Given the description of an element on the screen output the (x, y) to click on. 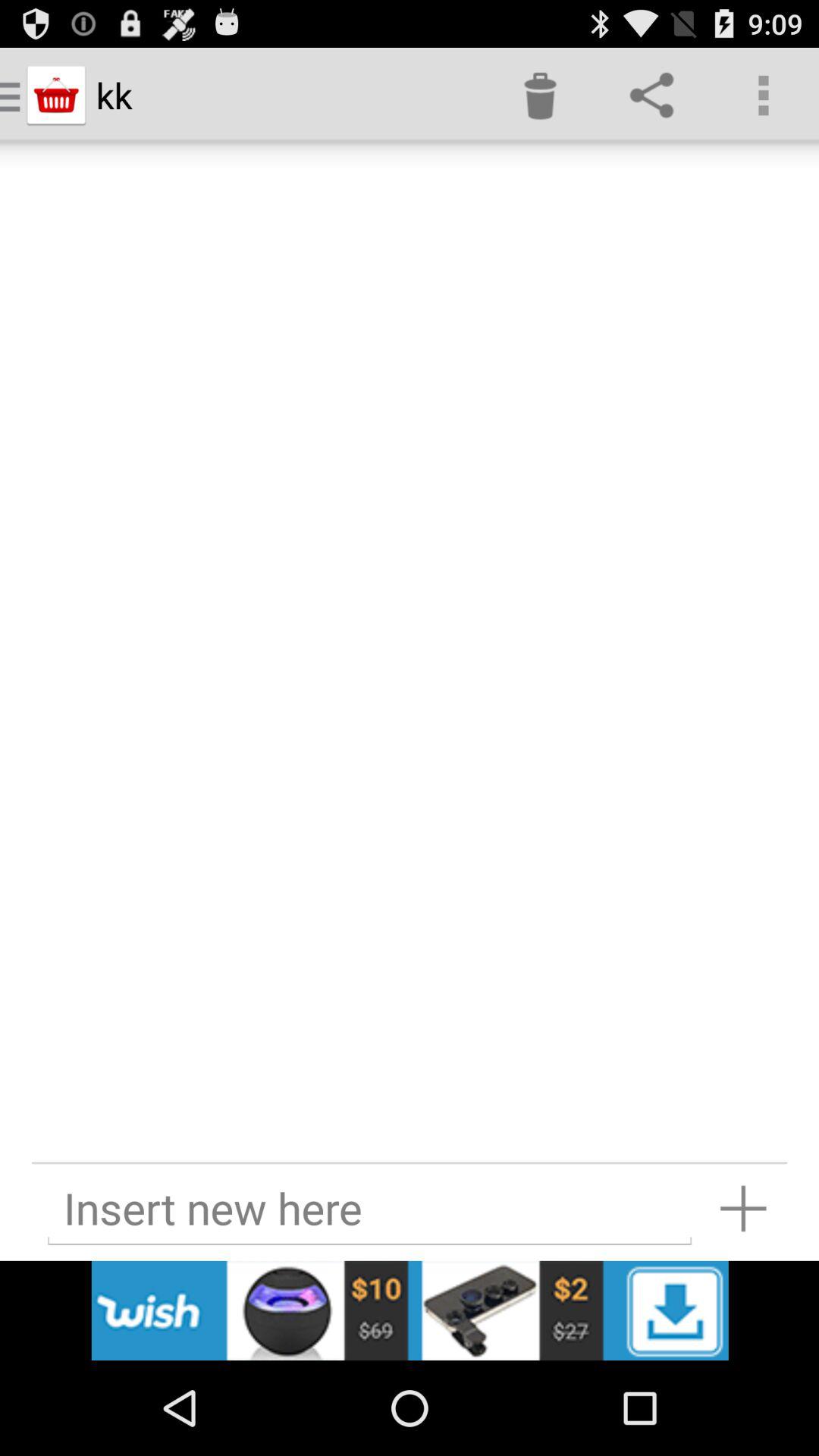
insert new (743, 1208)
